Given the description of an element on the screen output the (x, y) to click on. 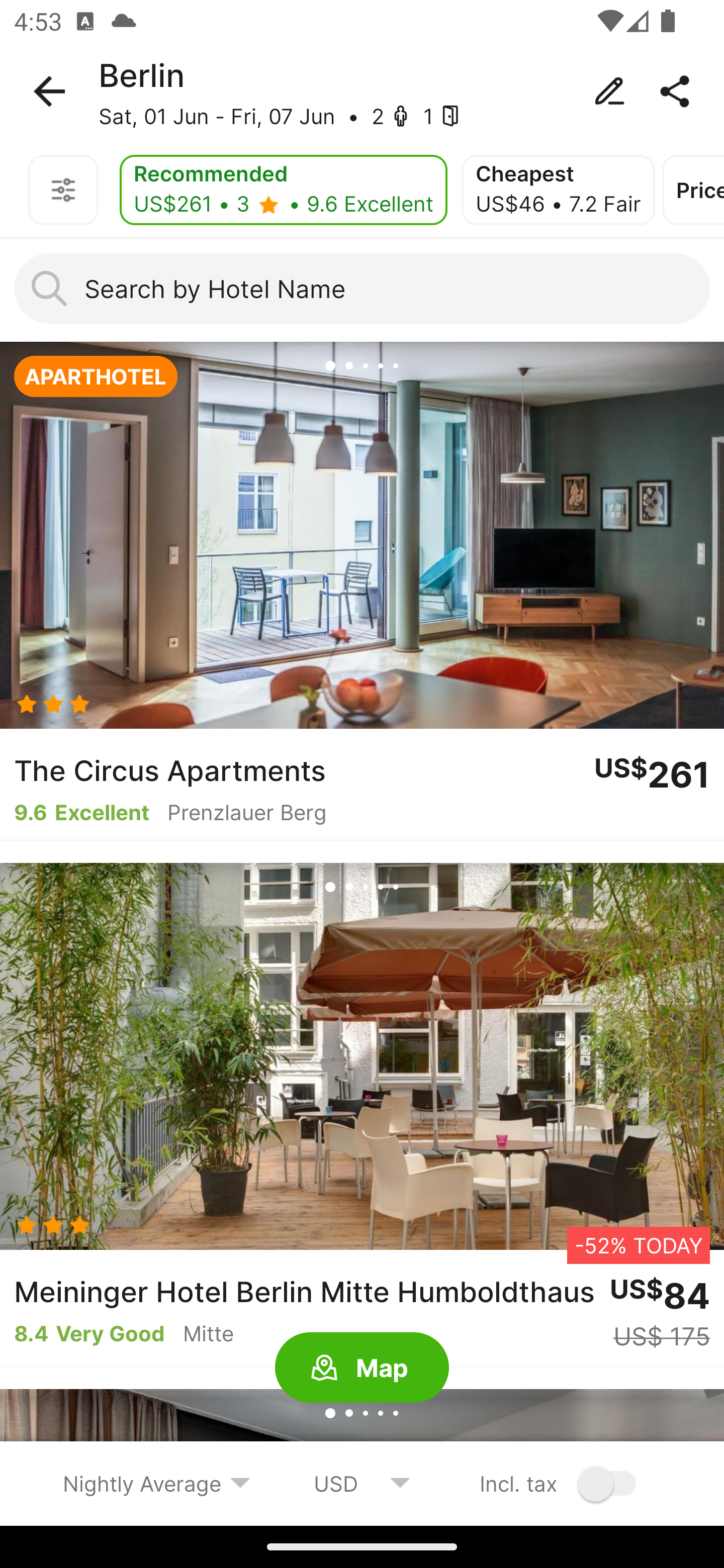
Berlin Sat, 01 Jun - Fri, 07 Jun  •  2 -  1 - (361, 91)
Recommended  US$261  • 3 - • 9.6 Excellent (283, 190)
Cheapest US$46  • 7.2 Fair (558, 190)
Search by Hotel Name  (361, 288)
Map  (361, 1367)
Nightly Average (156, 1482)
USD (361, 1482)
